Given the description of an element on the screen output the (x, y) to click on. 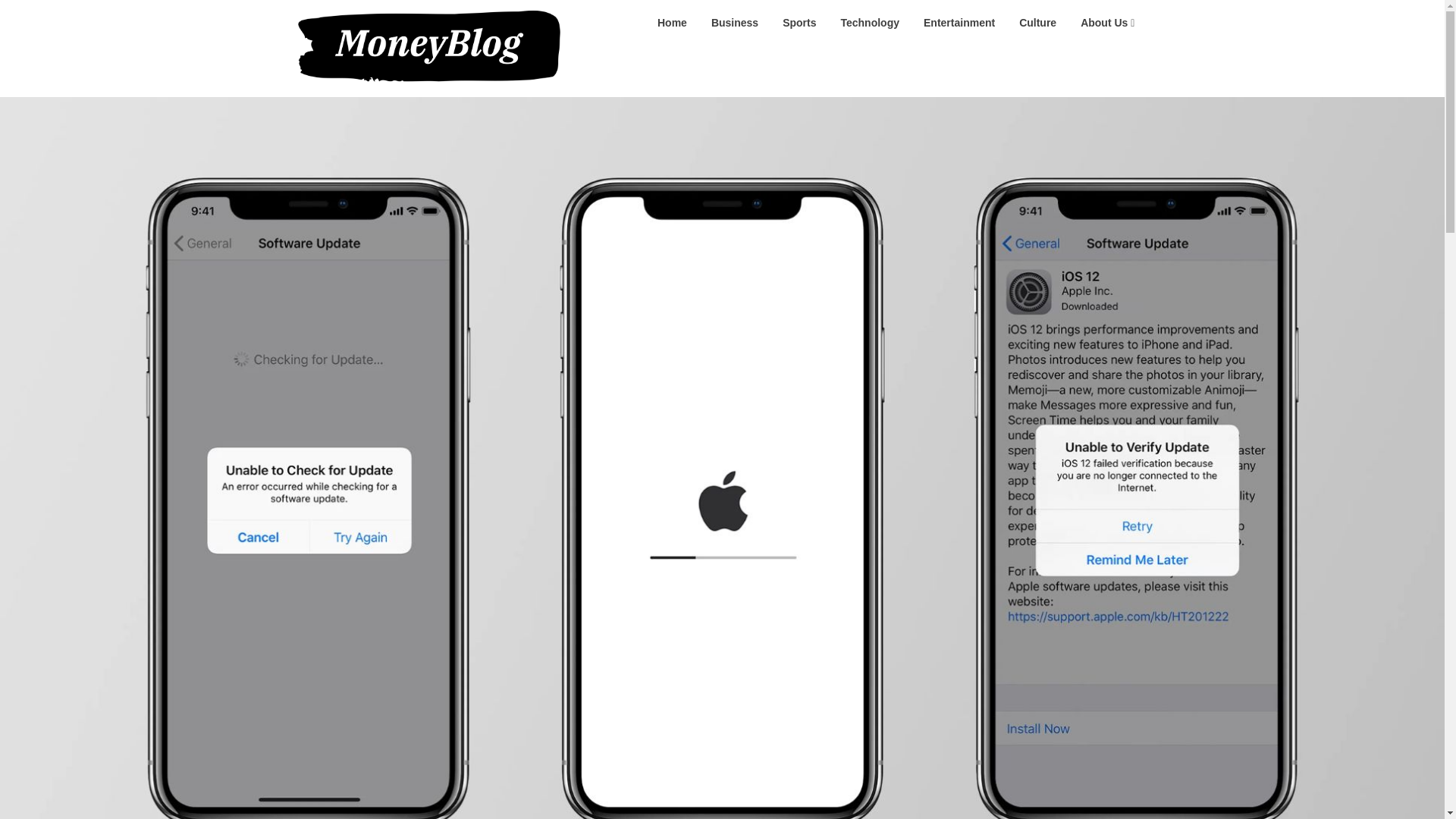
Sports (799, 22)
rafflesplace.my.id (638, 21)
Business (734, 22)
About Us (1107, 22)
Technology (869, 22)
Home (671, 22)
Entertainment (959, 22)
Culture (1037, 22)
